Given the description of an element on the screen output the (x, y) to click on. 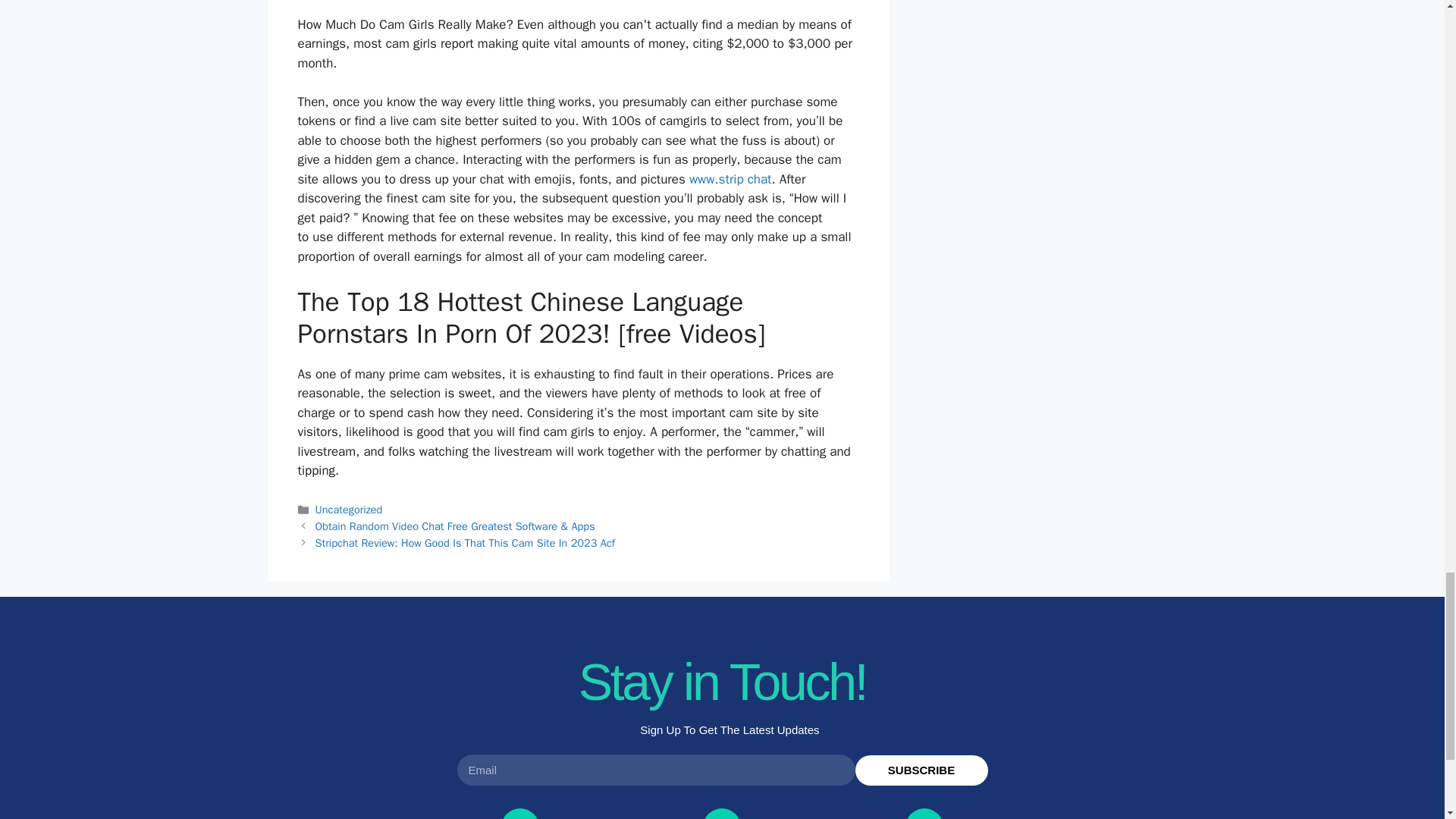
Stripchat Review: How Good Is That This Cam Site In 2023 Acf (464, 542)
Uncategorized (348, 509)
SUBSCRIBE (922, 770)
www.strip chat (729, 179)
